Given the description of an element on the screen output the (x, y) to click on. 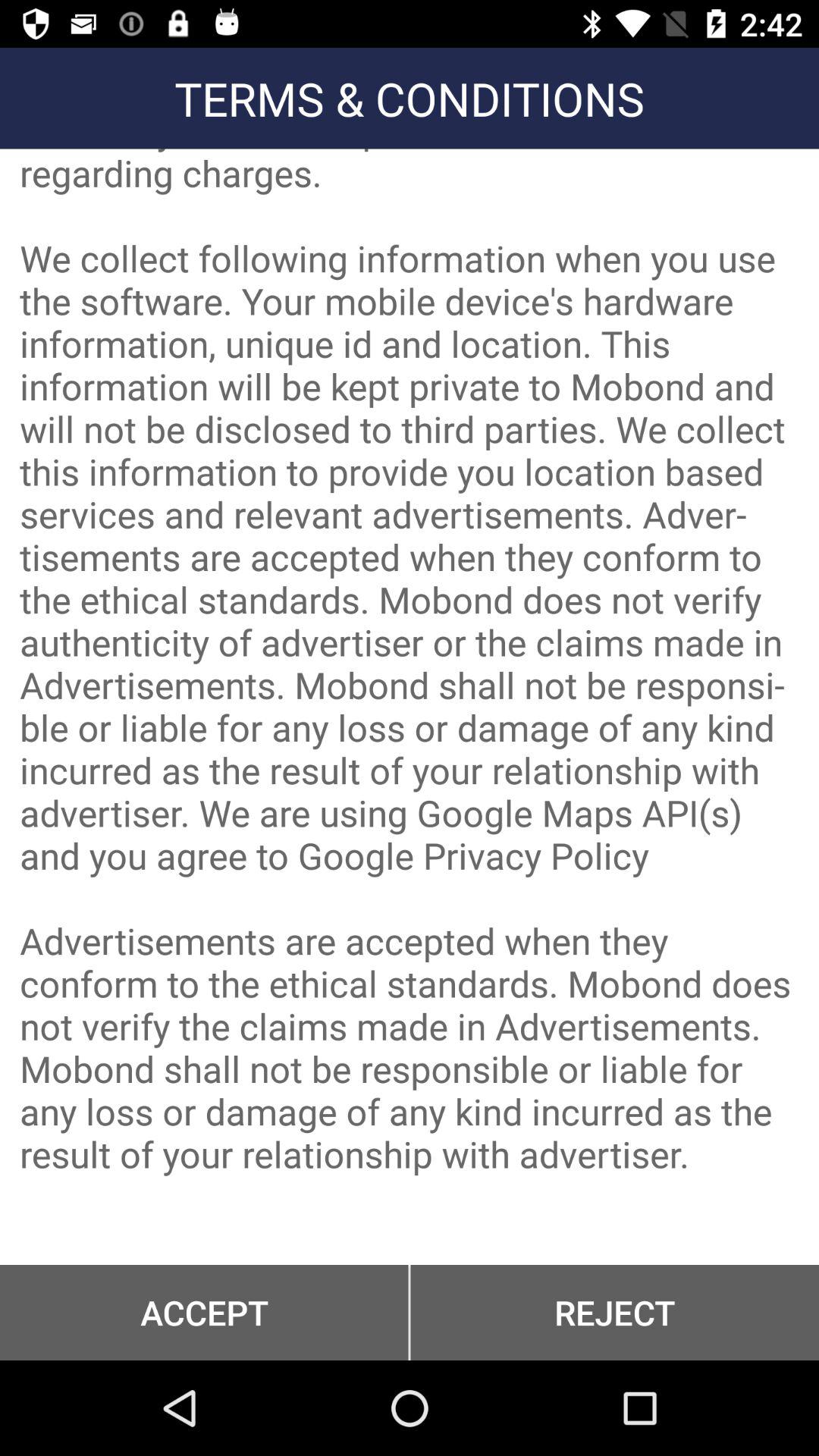
flip until accept item (204, 1312)
